Given the description of an element on the screen output the (x, y) to click on. 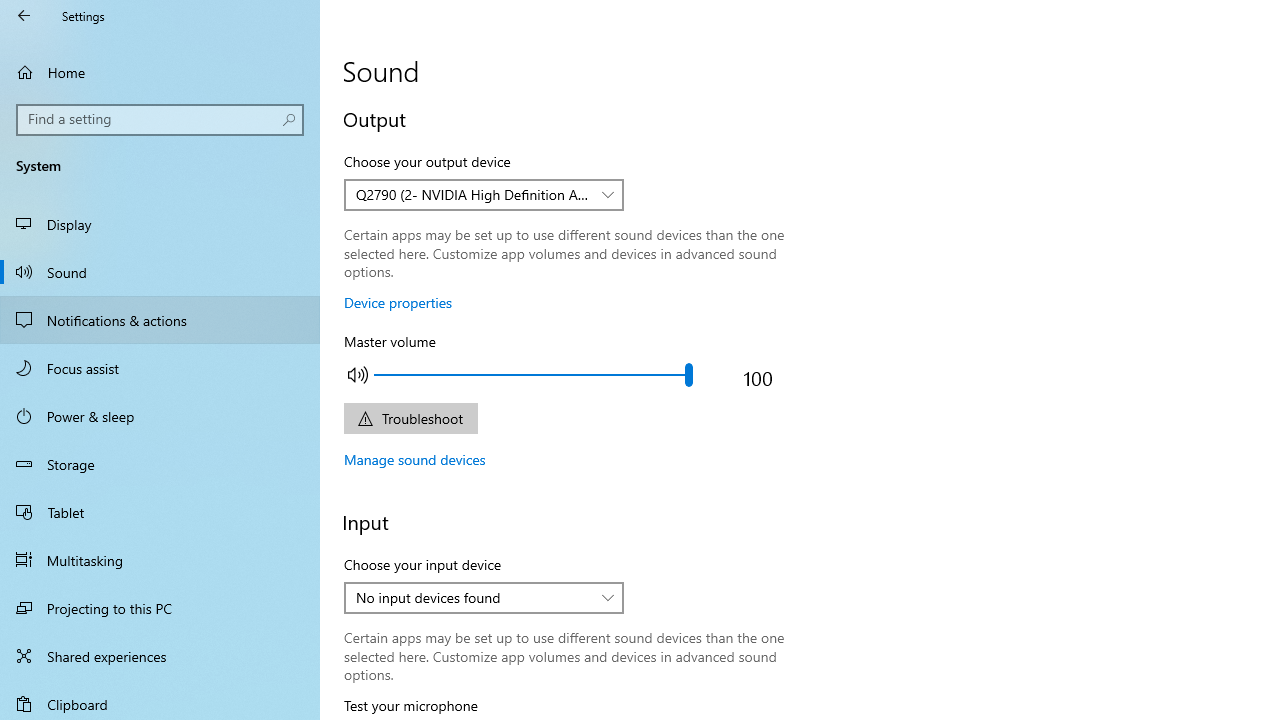
Output device troubleshoot (410, 418)
Power & sleep (160, 415)
Device properties (397, 302)
Storage (160, 463)
Tablet (160, 511)
Home (160, 71)
Search box, Find a setting (160, 119)
No input devices found (473, 597)
Projecting to this PC (160, 607)
Mute master volume (358, 374)
Shared experiences (160, 655)
Choose your input device (484, 597)
Multitasking (160, 559)
Choose your output device (484, 194)
Q2790 (2- NVIDIA High Definition Audio) (473, 194)
